Given the description of an element on the screen output the (x, y) to click on. 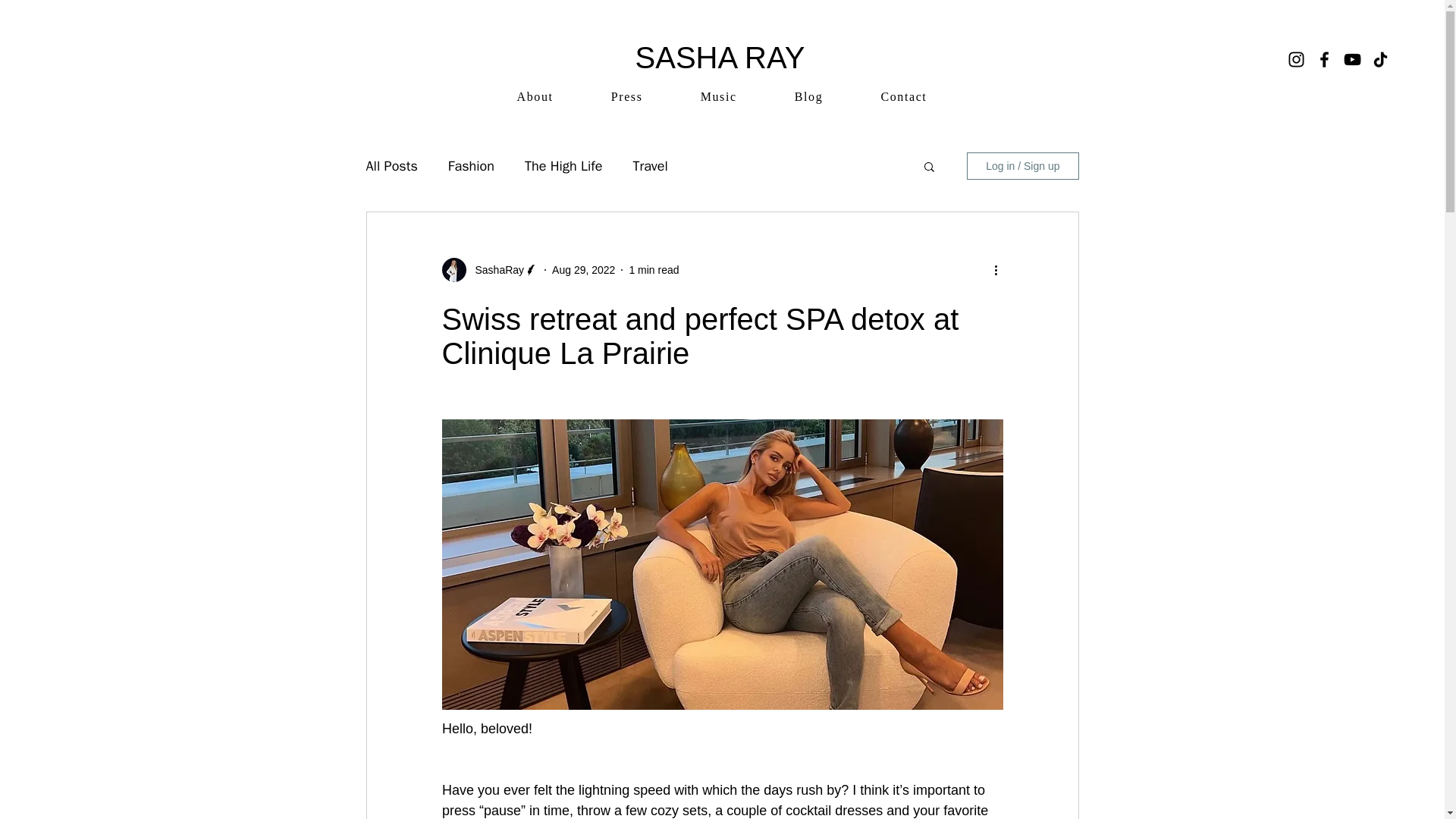
1 min read (653, 269)
The High Life (563, 166)
Contact (903, 97)
SASHA RAY (719, 57)
Blog (808, 97)
All Posts (390, 166)
Fashion (471, 166)
About (535, 97)
Music (718, 97)
Travel (648, 166)
